Given the description of an element on the screen output the (x, y) to click on. 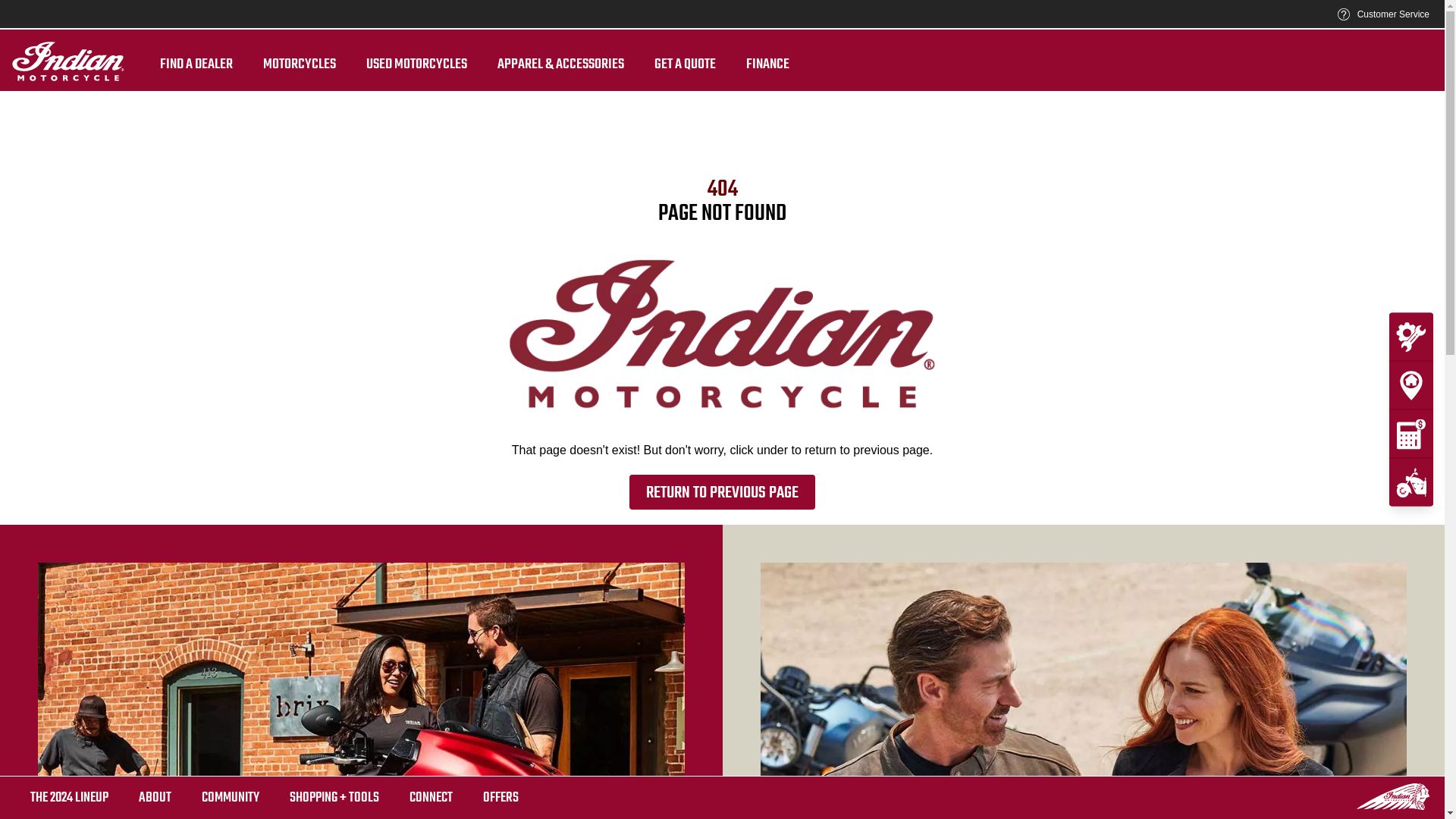
MOTORCYCLES Element type: text (299, 64)
GET A QUOTE Element type: text (685, 64)
APPAREL & ACCESSORIES Element type: text (560, 64)
SHOPPING + TOOLS Element type: text (334, 797)
USED MOTORCYCLES Element type: text (416, 64)
ABOUT Element type: text (154, 797)
FINANCE Element type: text (767, 64)
FIND A DEALER Element type: text (195, 64)
RETURN TO PREVIOUS PAGE Element type: text (722, 491)
CONNECT Element type: text (430, 797)
OFFERS Element type: text (500, 797)
COMMUNITY Element type: text (230, 797)
Indian Motorcycle Element type: hover (1392, 795)
THE 2024 LINEUP Element type: text (69, 797)
